Given the description of an element on the screen output the (x, y) to click on. 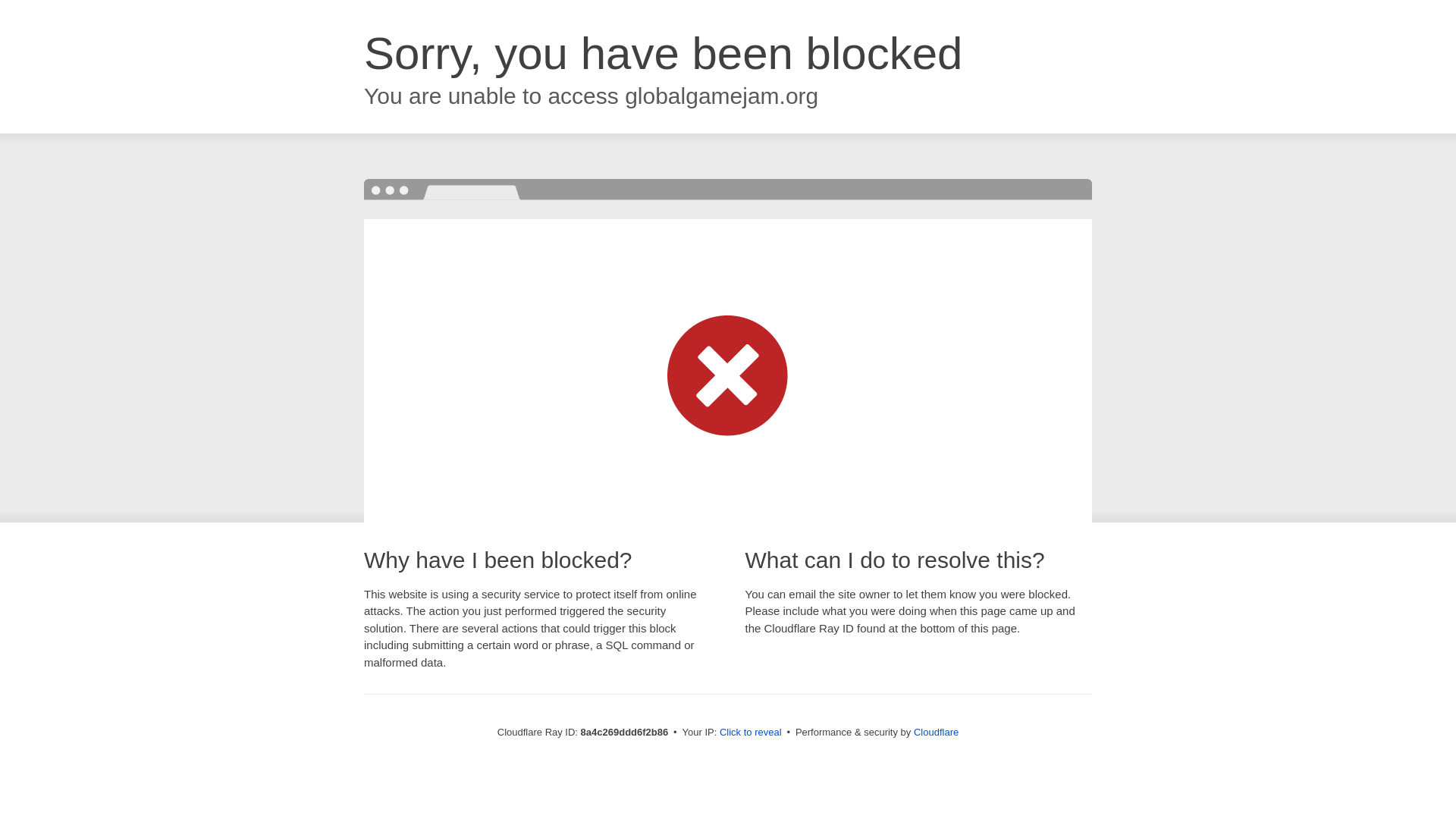
Click to reveal (750, 732)
Cloudflare (936, 731)
